Given the description of an element on the screen output the (x, y) to click on. 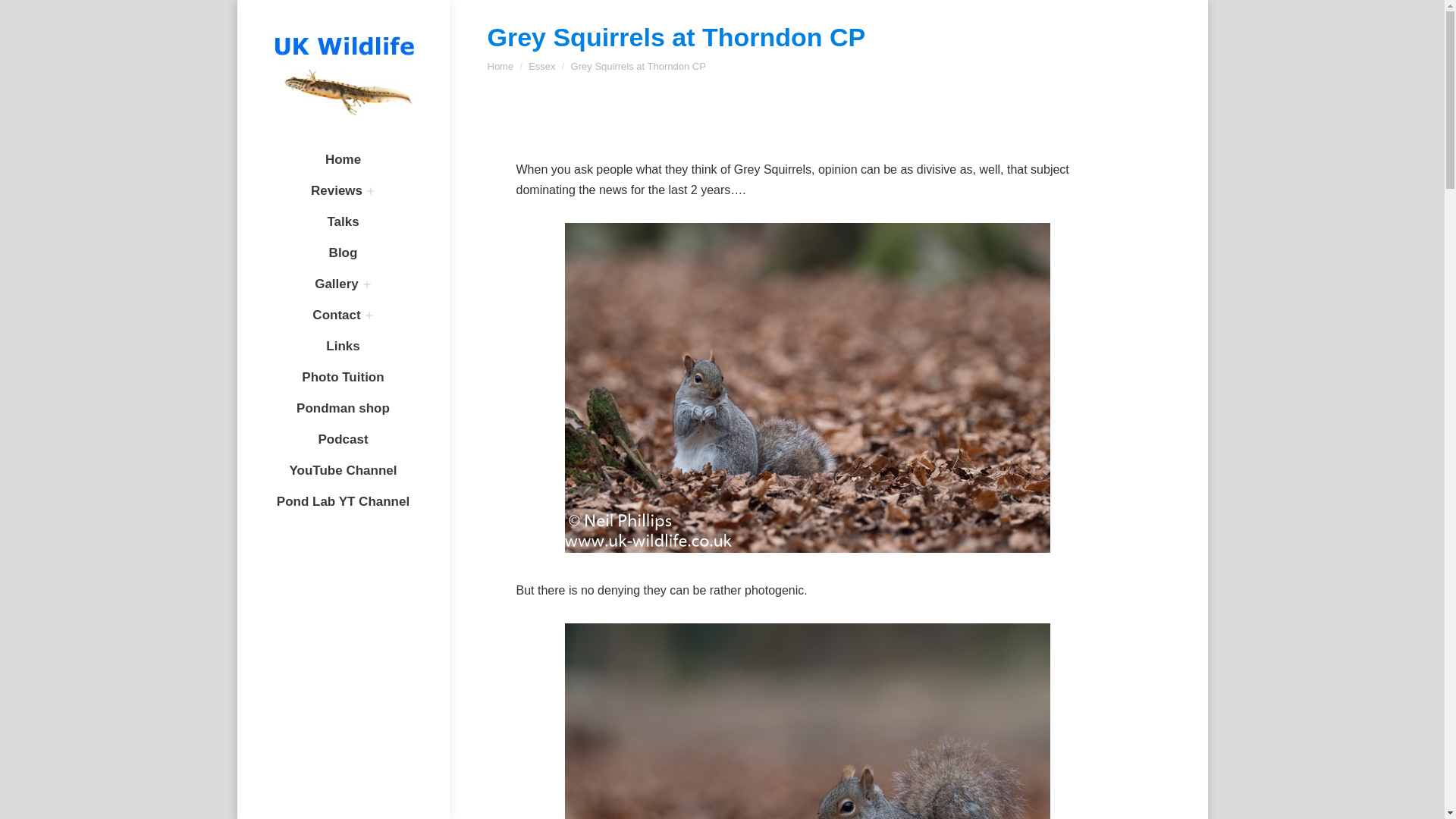
Home (499, 66)
Essex (541, 66)
Blog (343, 252)
Reviews (336, 190)
Talks (342, 221)
Gallery (336, 283)
Home (342, 159)
